Given the description of an element on the screen output the (x, y) to click on. 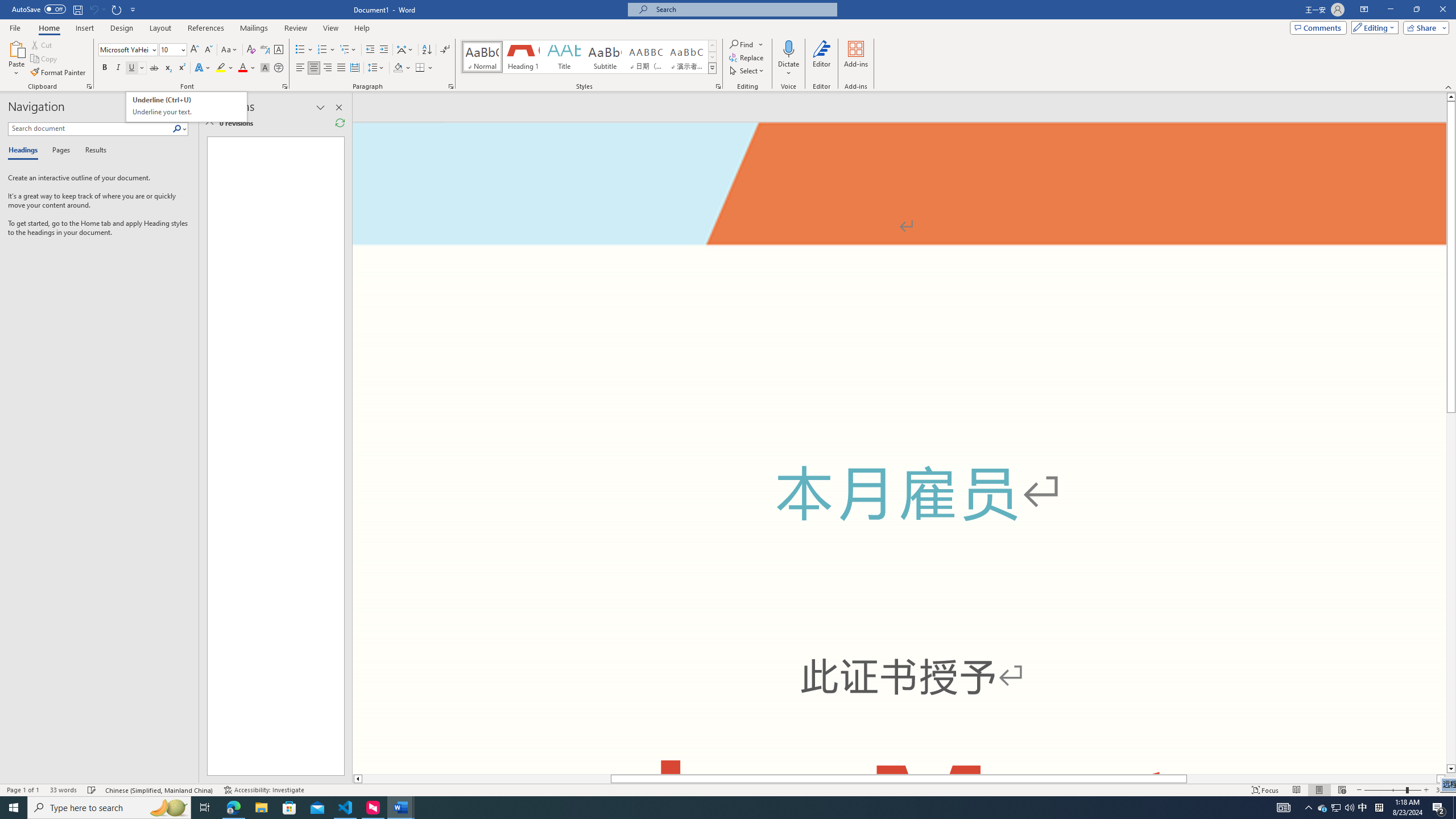
Repeat Doc Close (117, 9)
Page 1 content (898, 489)
